Given the description of an element on the screen output the (x, y) to click on. 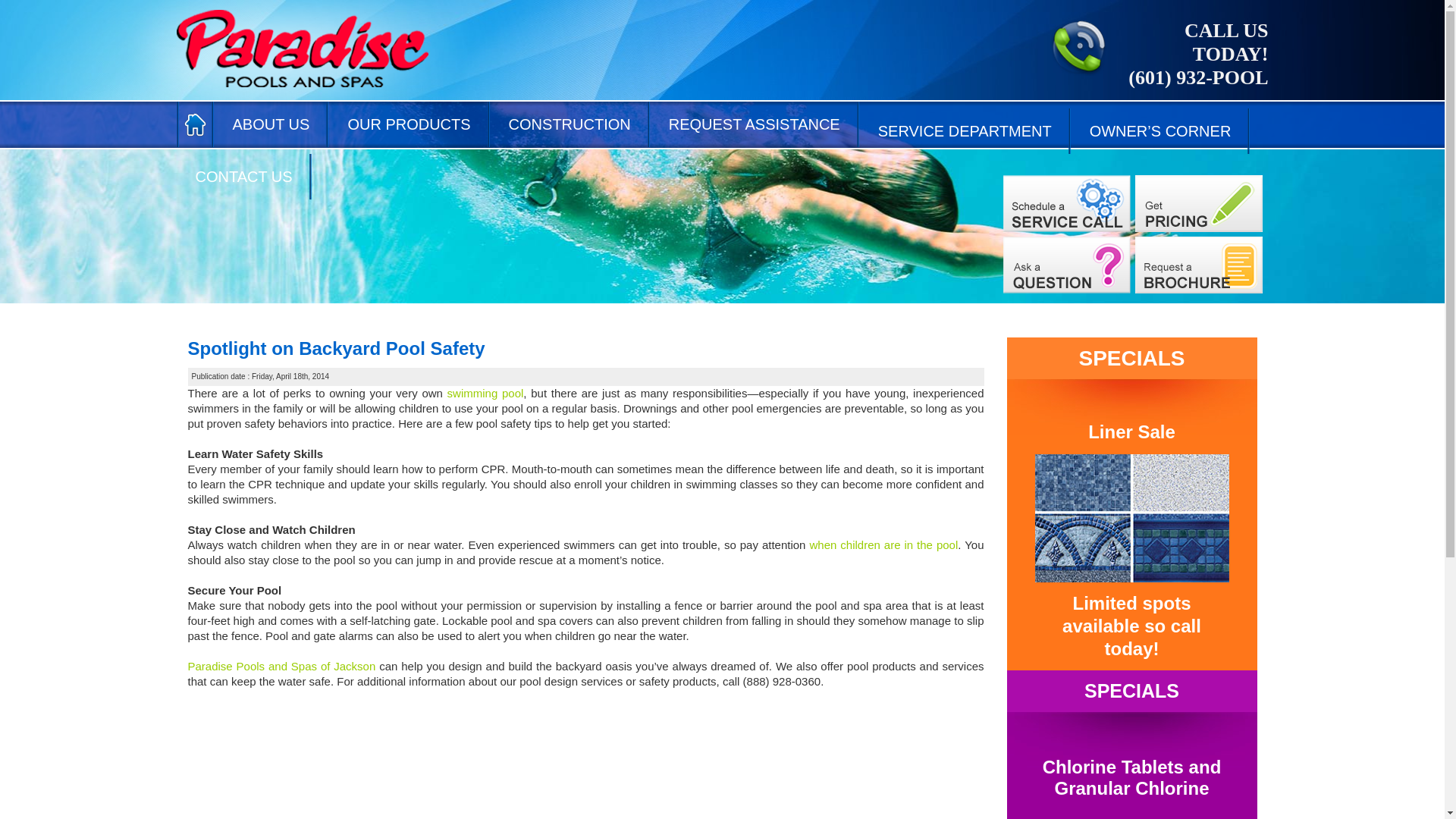
ABOUT US (271, 124)
CONSTRUCTION (569, 124)
OUR PRODUCTS (409, 124)
